Given the description of an element on the screen output the (x, y) to click on. 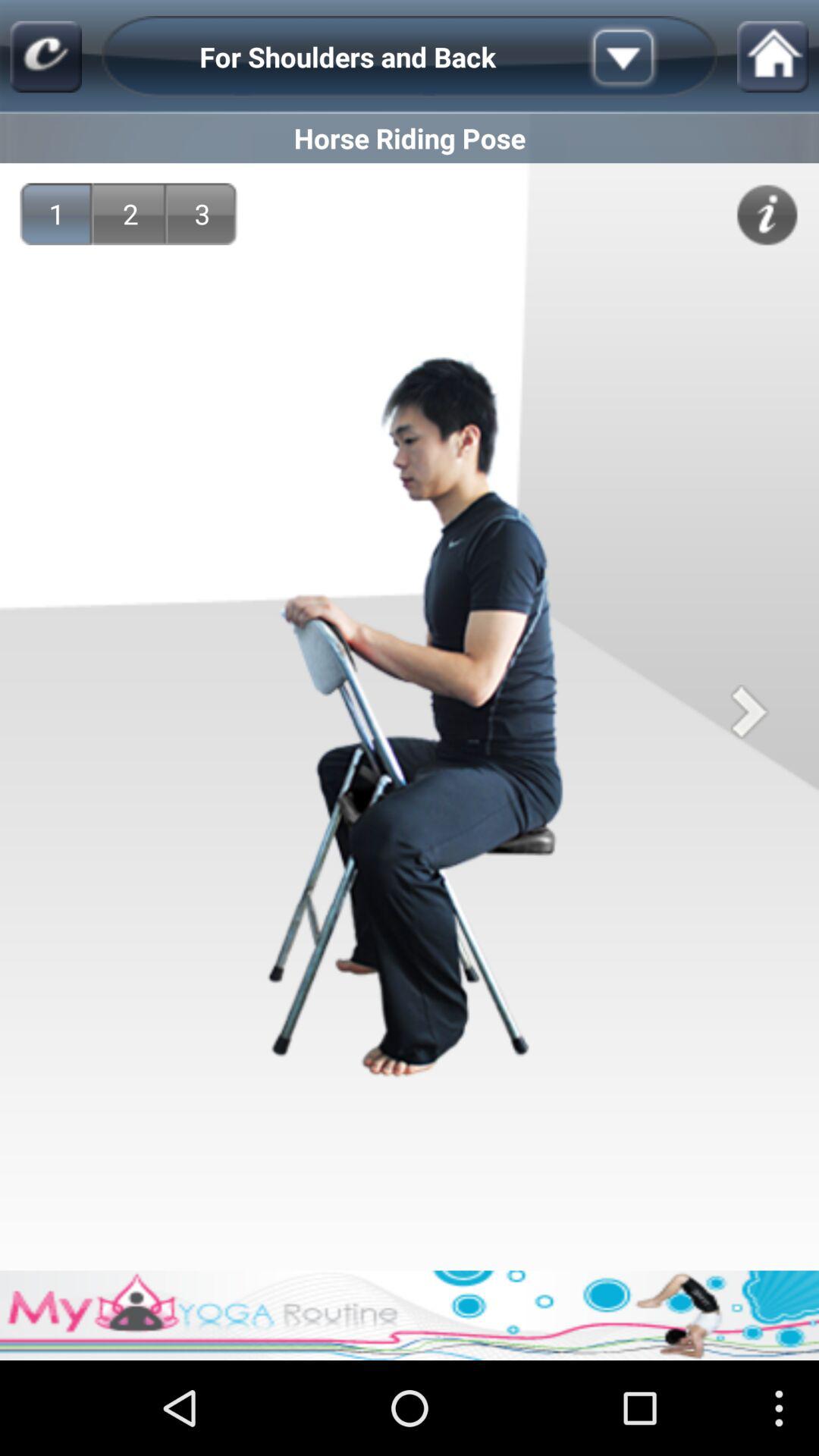
go to the main page (45, 56)
